Given the description of an element on the screen output the (x, y) to click on. 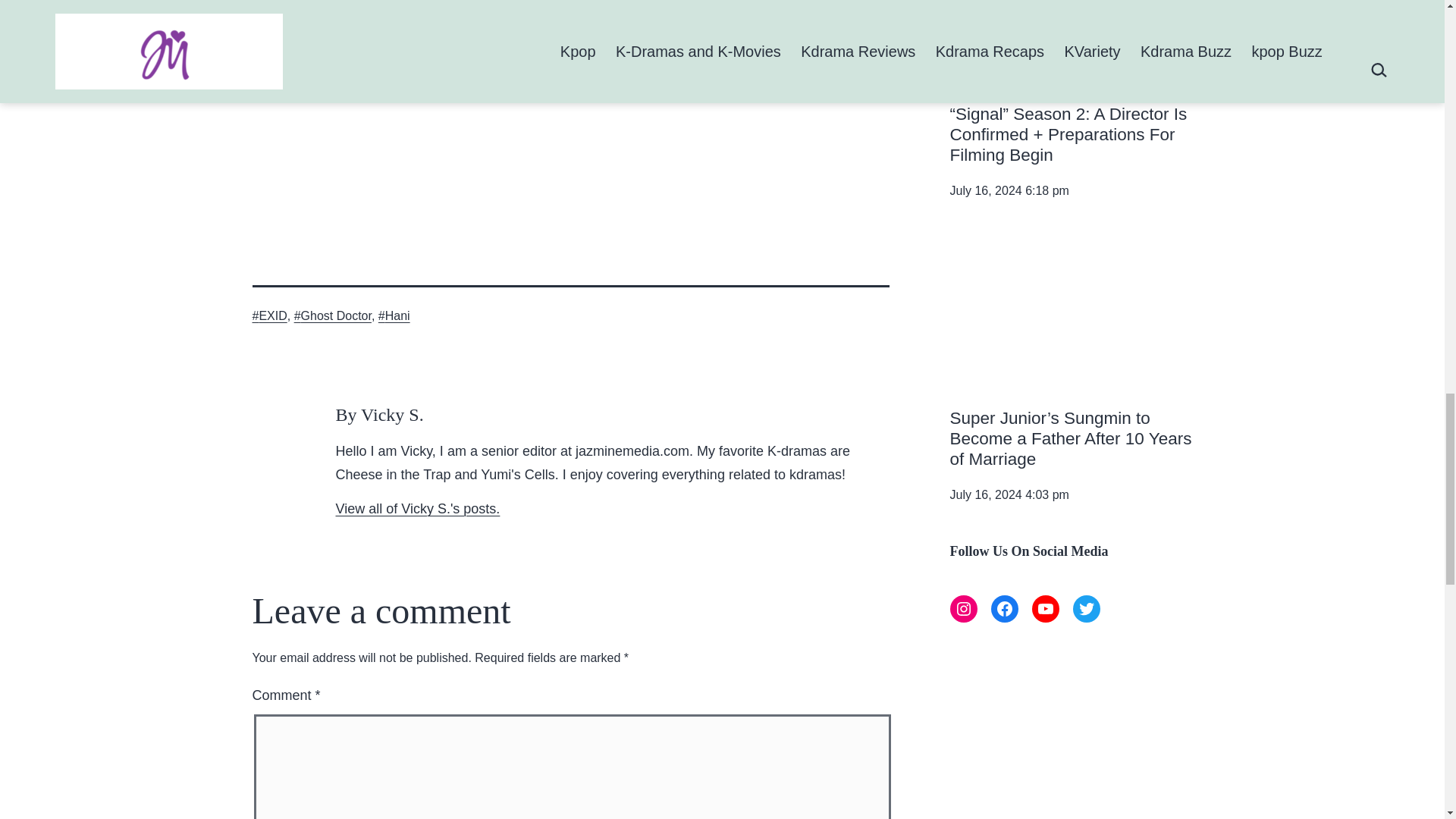
Instagram (962, 608)
Hani (394, 315)
Ghost Doctor (332, 315)
Facebook (1003, 608)
Twitter (1085, 608)
View all of Vicky S.'s posts. (416, 508)
YouTube (1044, 608)
Signal (1070, 30)
sungmin (1070, 318)
EXID (268, 315)
